Given the description of an element on the screen output the (x, y) to click on. 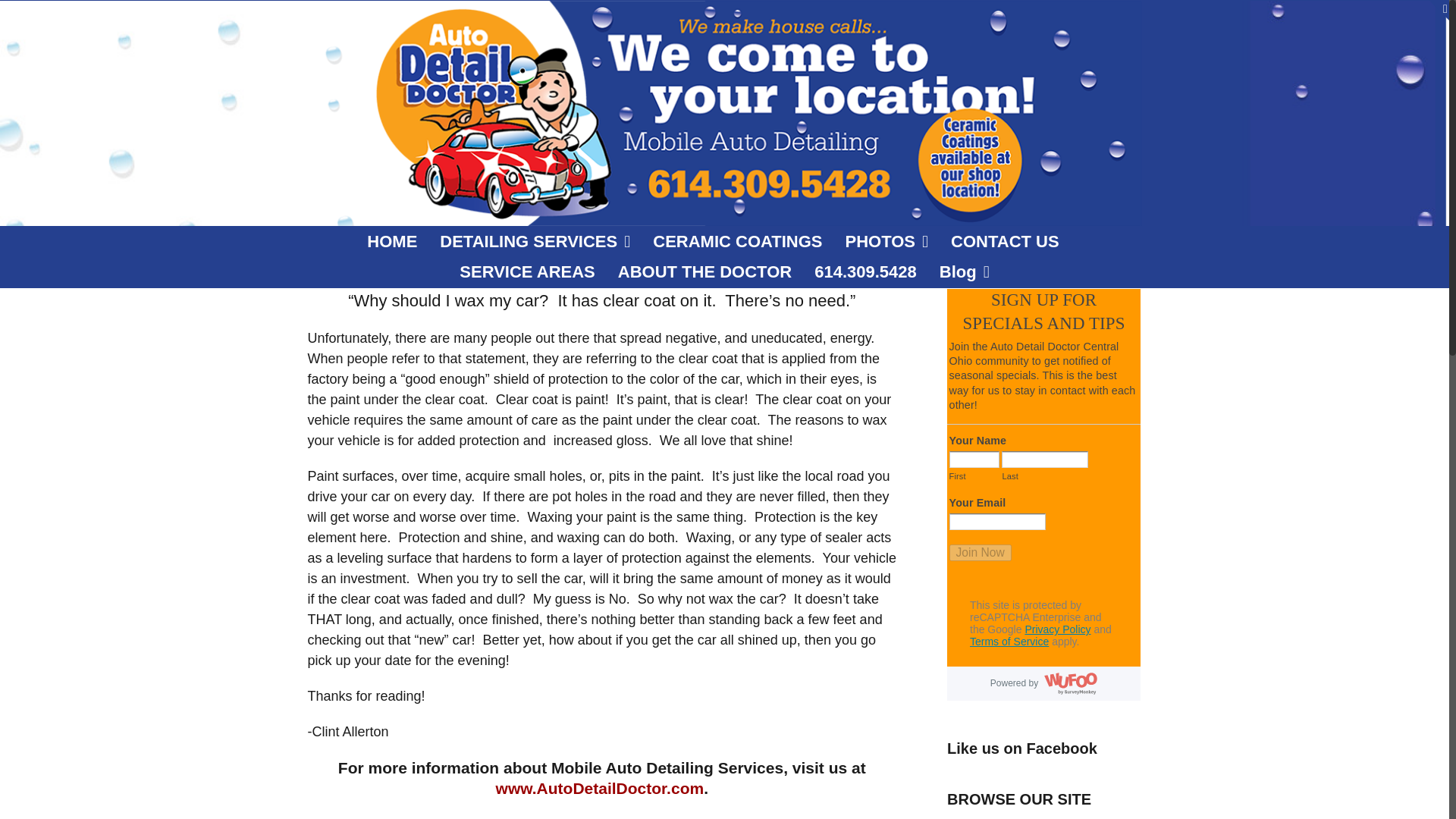
SERVICE AREAS (527, 272)
CONTACT US (1004, 241)
DETAILING SERVICES (534, 241)
614.309.5428 (865, 272)
CERAMIC COATINGS (737, 241)
PHOTOS (886, 241)
Blog (964, 272)
HOME (391, 241)
ABOUT THE DOCTOR (704, 272)
